Given the description of an element on the screen output the (x, y) to click on. 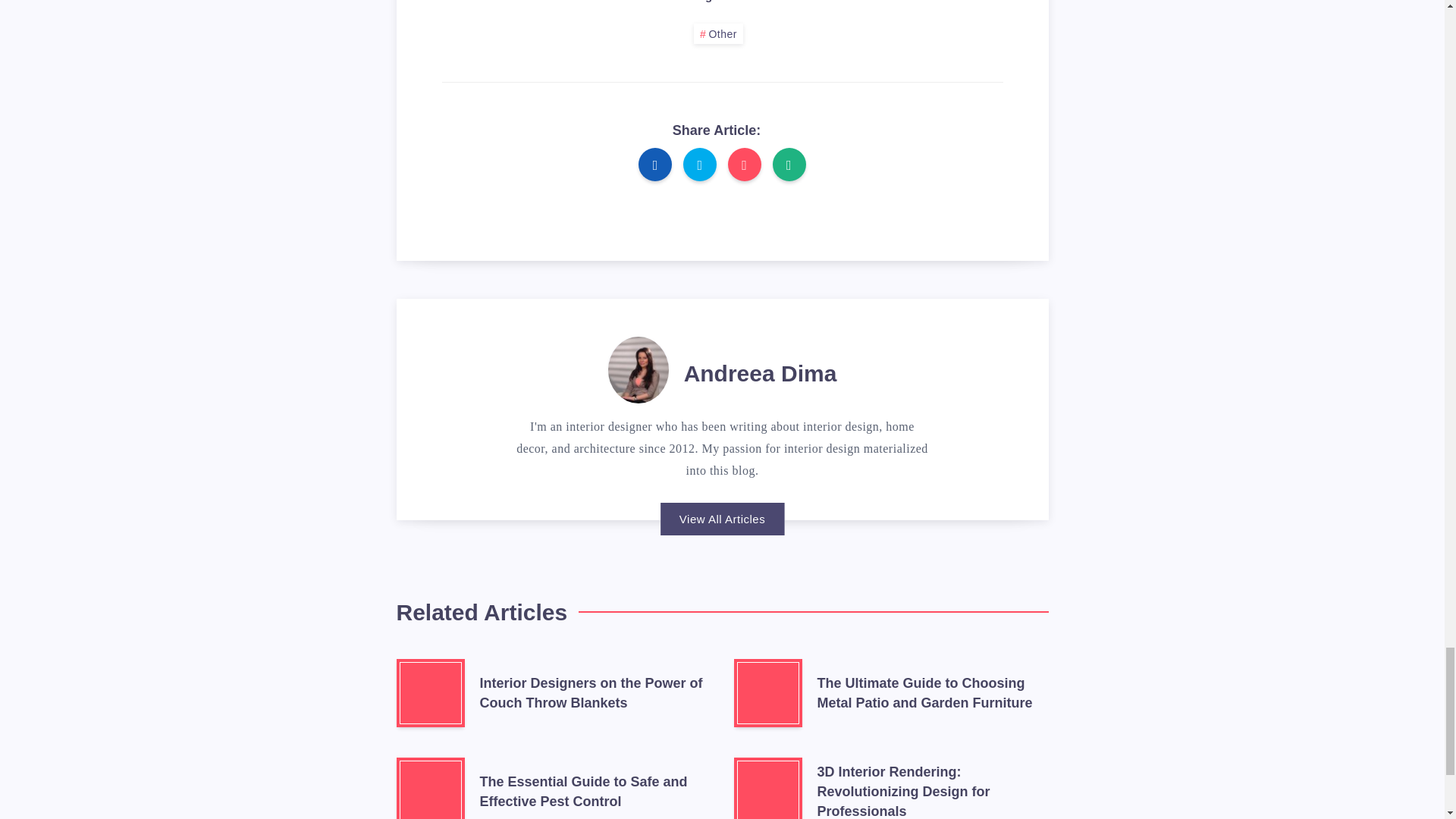
Author: Andreea Dima (638, 366)
Other (718, 33)
Andreea Dima (760, 375)
View All Articles (722, 518)
